Given the description of an element on the screen output the (x, y) to click on. 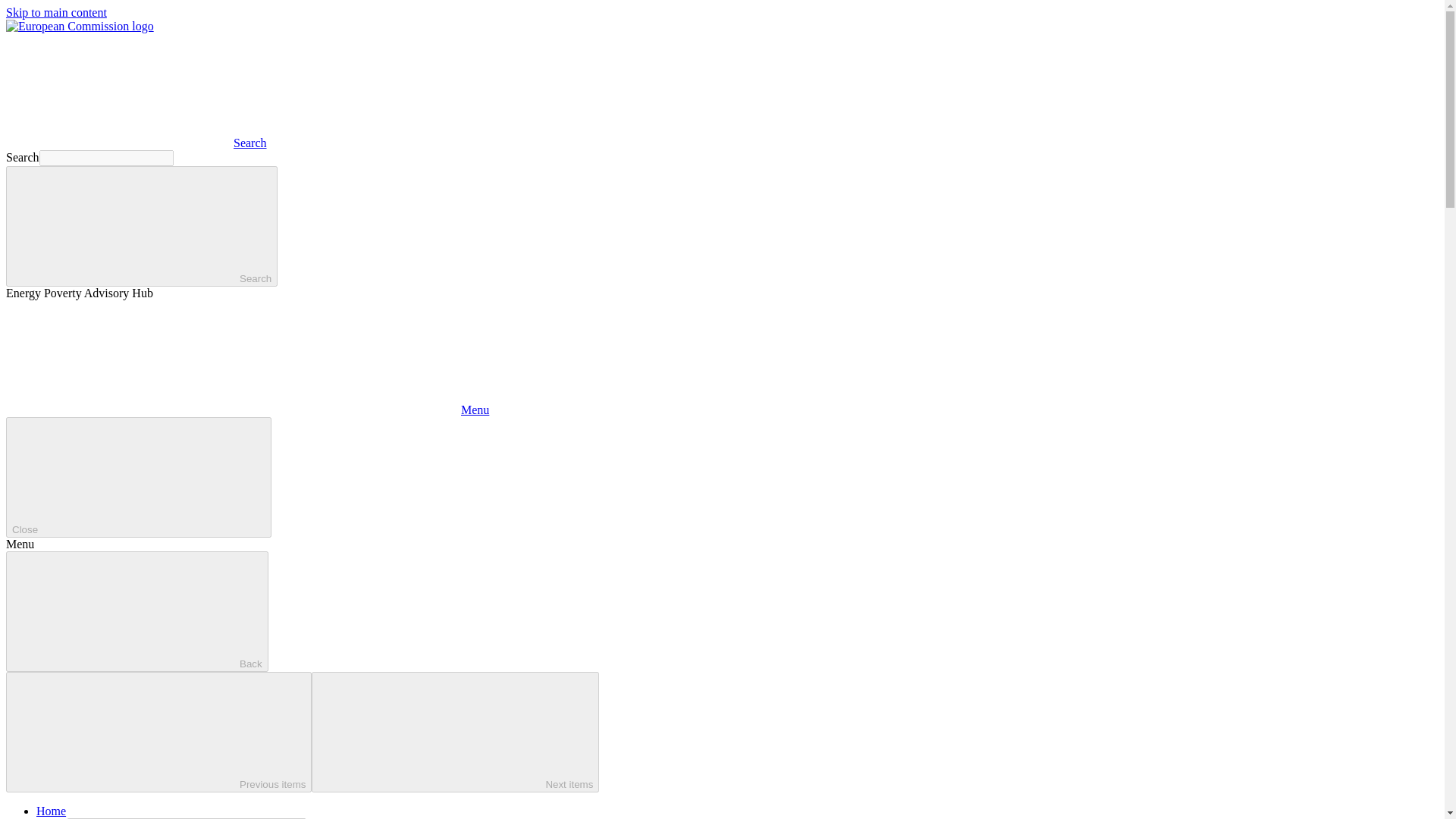
Previous items (158, 731)
Skip to main content (55, 11)
Search (135, 142)
Next items (454, 731)
Menu (247, 409)
Home (50, 810)
Close (137, 476)
European Commission (79, 25)
Back (136, 611)
Search (141, 226)
